Given the description of an element on the screen output the (x, y) to click on. 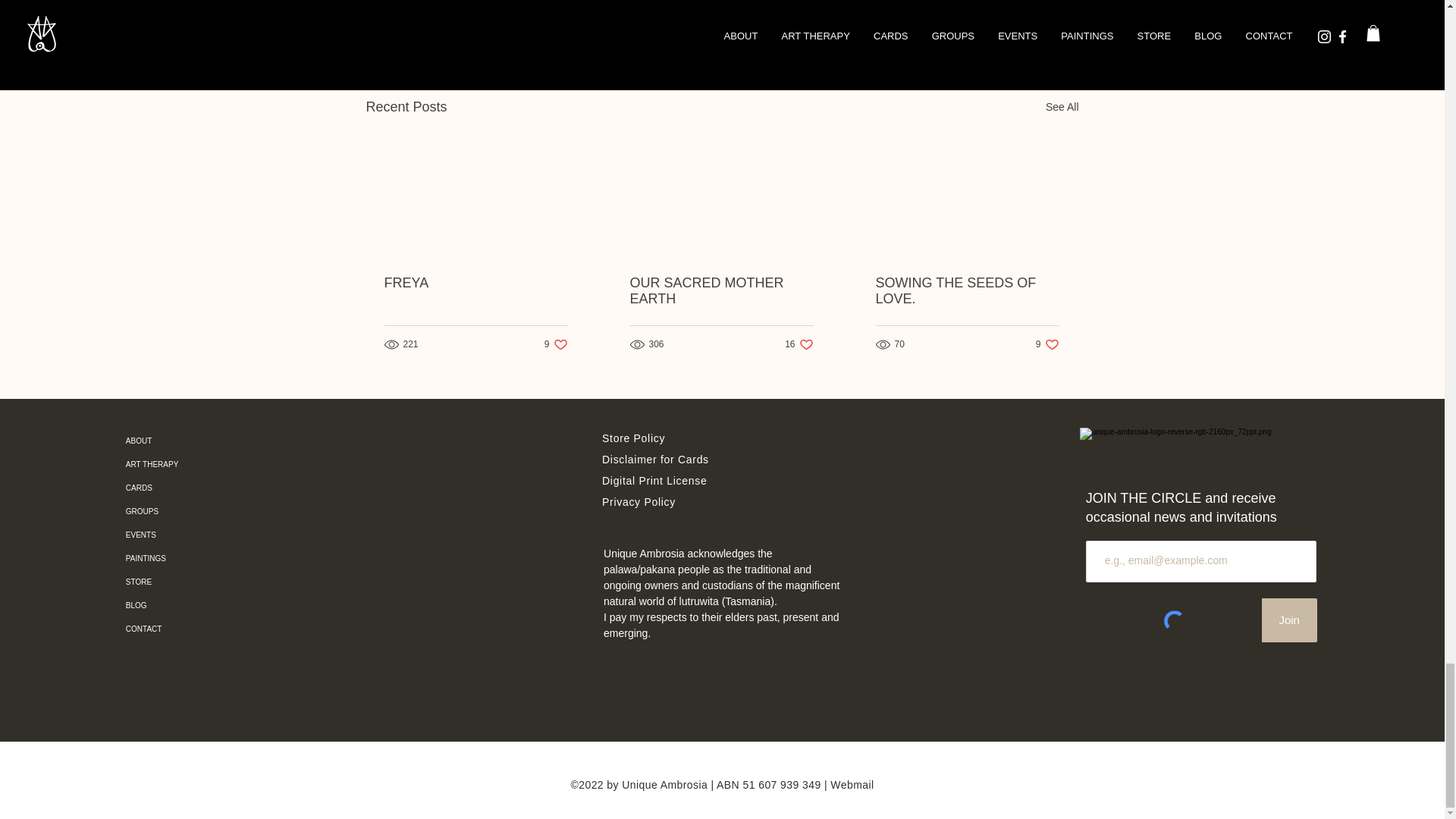
OUR SACRED MOTHER EARTH (798, 344)
SOWING THE SEEDS OF LOVE. (720, 291)
See All (990, 25)
FREYA (966, 291)
